Given the description of an element on the screen output the (x, y) to click on. 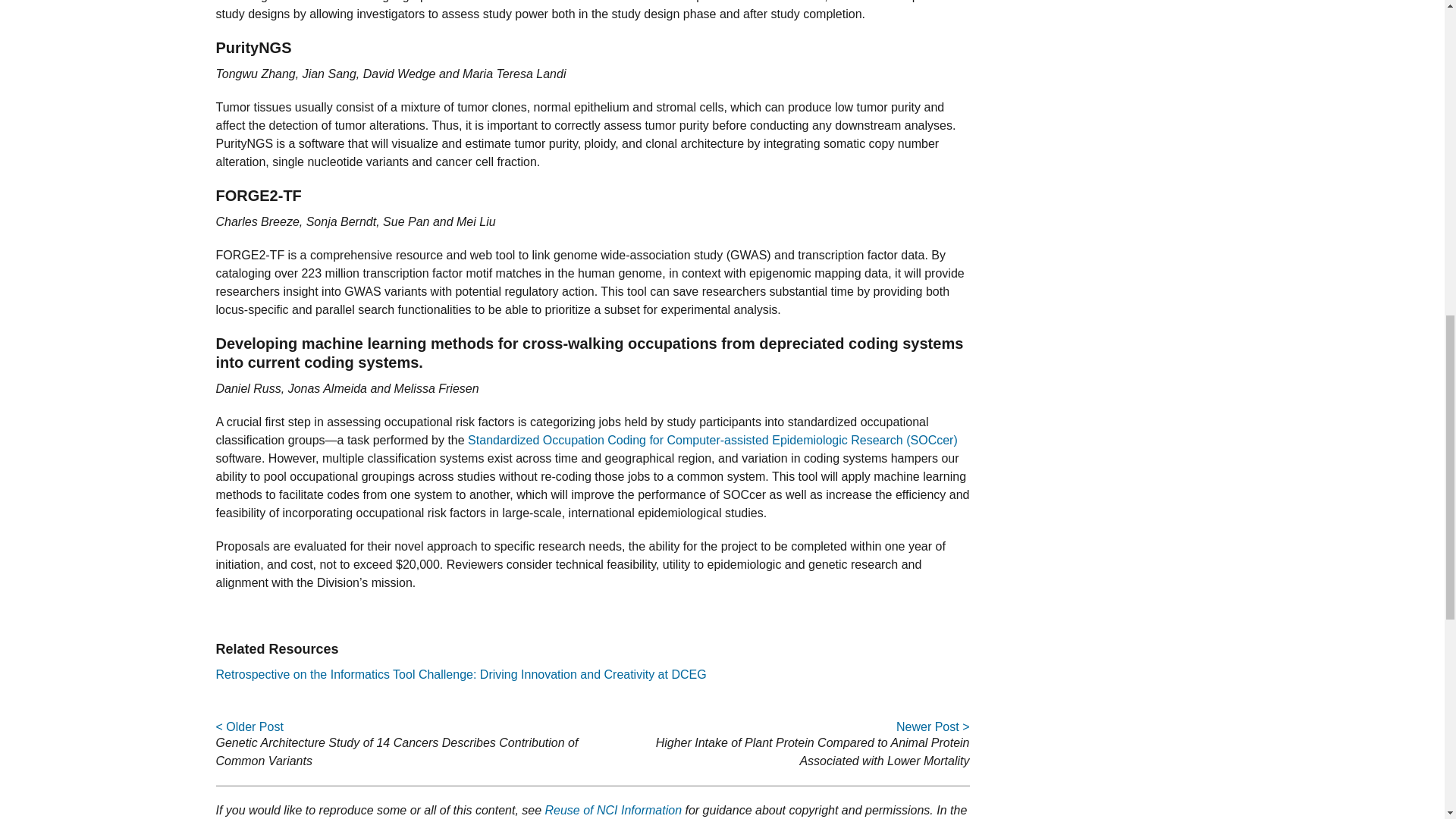
Reuse of NCI Information (613, 809)
